Given the description of an element on the screen output the (x, y) to click on. 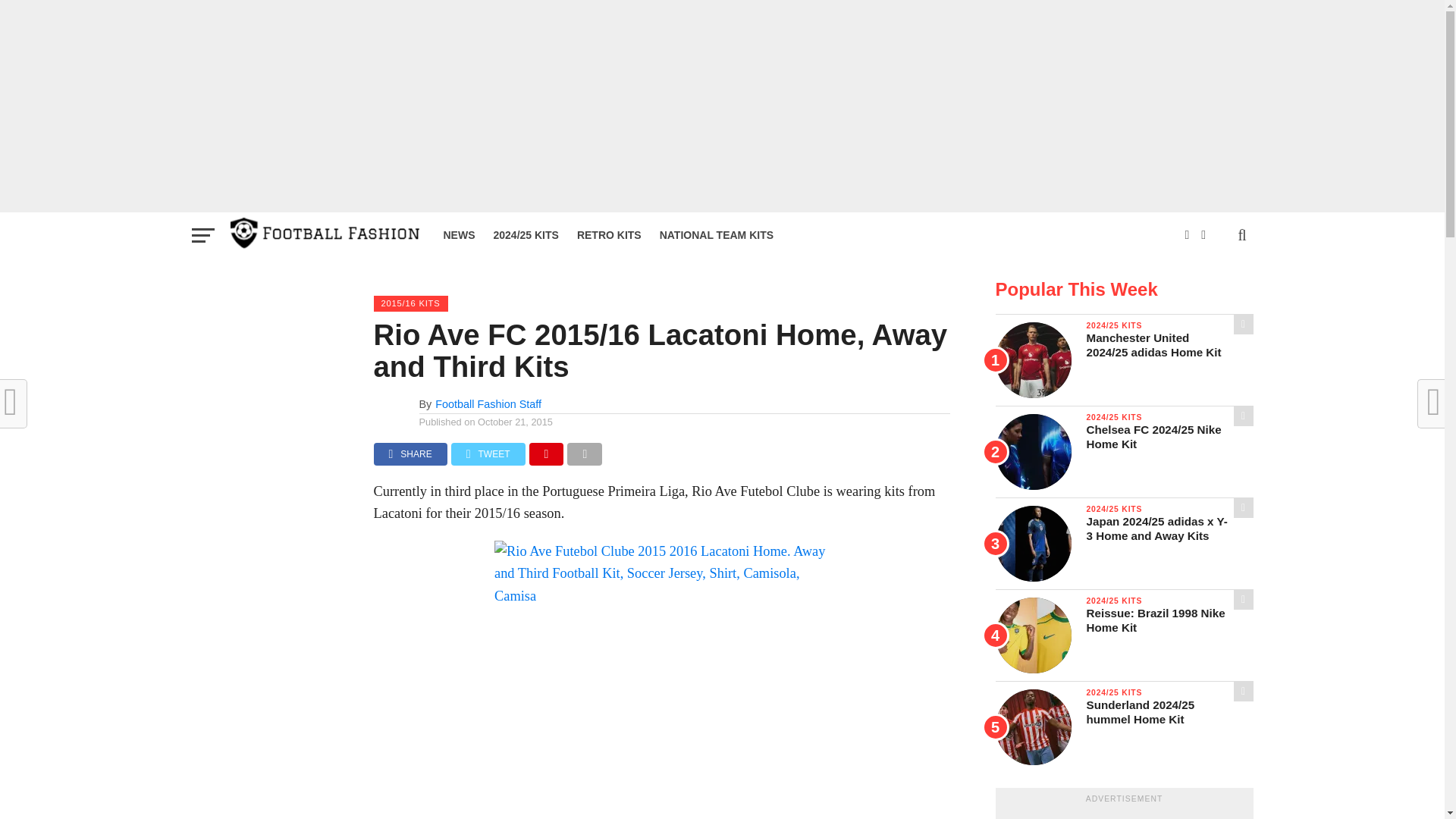
Posts by Football Fashion Staff (488, 404)
